Given the description of an element on the screen output the (x, y) to click on. 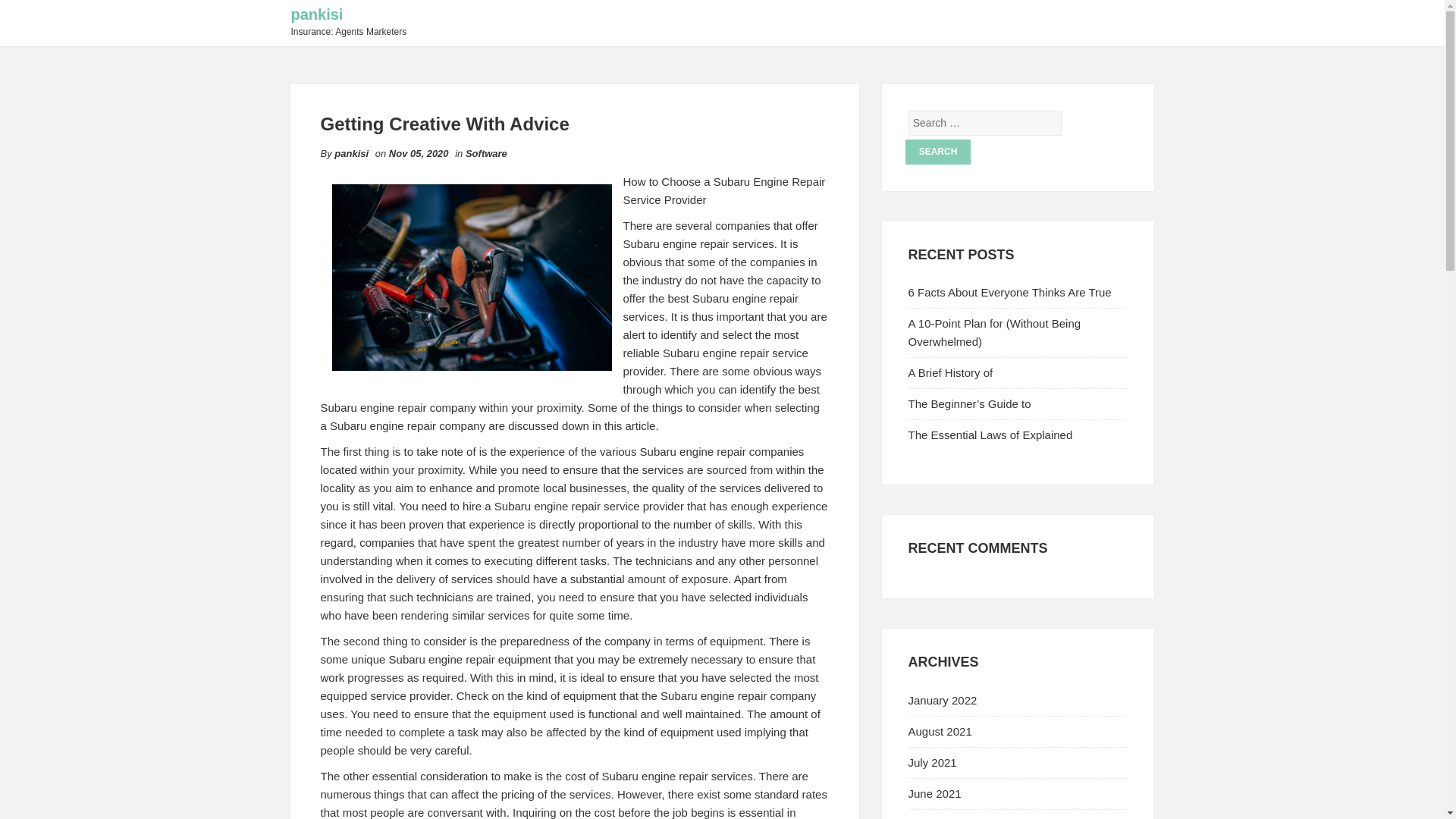
Search (938, 151)
July 2021 (932, 762)
pankisi (317, 13)
August 2021 (940, 730)
Software (485, 153)
The Essential Laws of Explained (990, 434)
Search (938, 151)
A Brief History of (950, 372)
Search (938, 151)
January 2022 (942, 699)
June 2021 (934, 793)
pankisi (351, 153)
6 Facts About Everyone Thinks Are True (1010, 291)
May 2021 (933, 818)
